Given the description of an element on the screen output the (x, y) to click on. 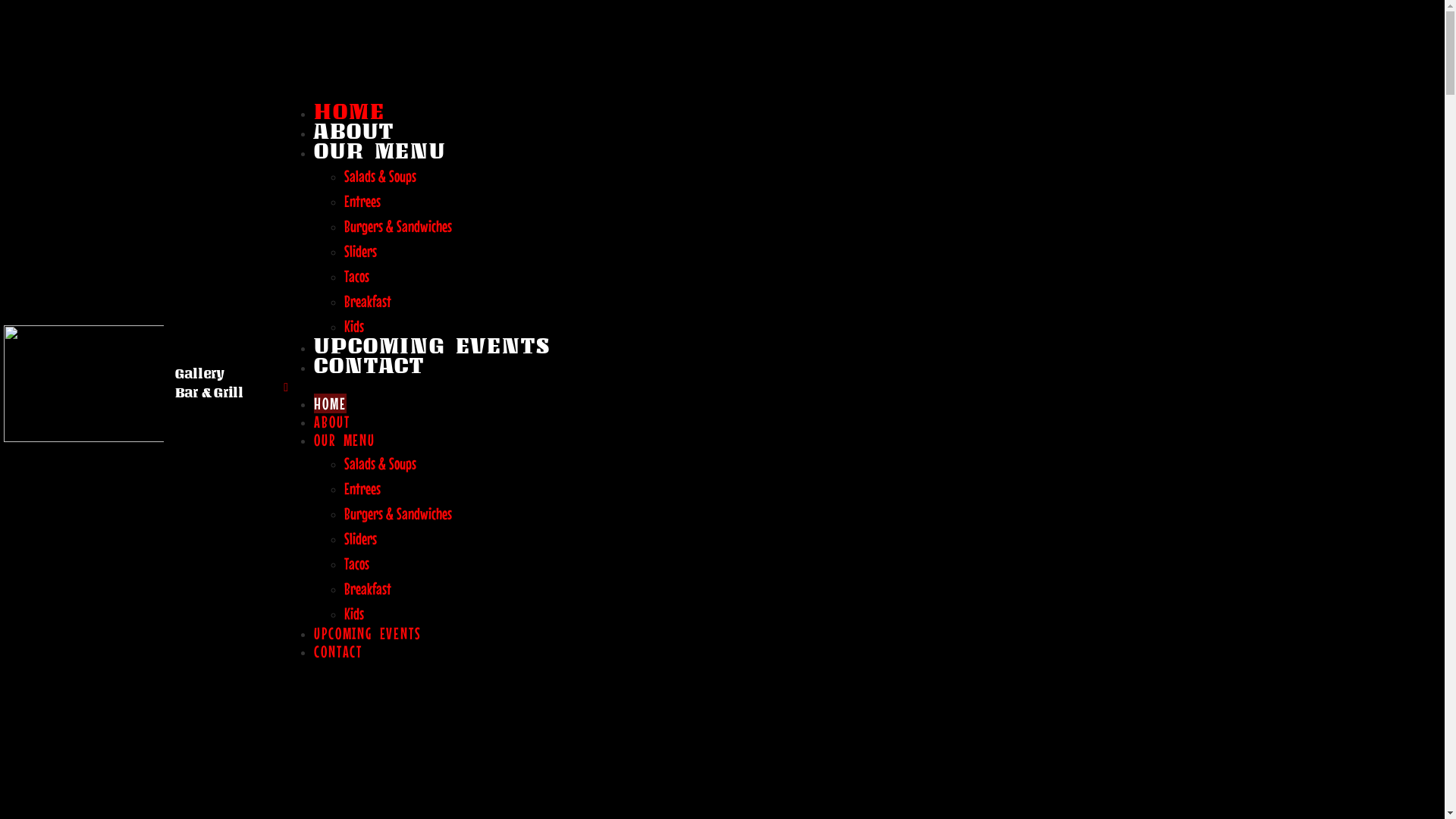
HOME Element type: text (329, 403)
OUR MENU Element type: text (343, 439)
Burgers & Sandwiches Element type: text (397, 513)
CONTACT Element type: text (368, 364)
Burgers & Sandwiches Element type: text (397, 225)
Entrees Element type: text (362, 200)
Breakfast Element type: text (367, 588)
Tacos Element type: text (356, 563)
Kids Element type: text (354, 613)
Salads & Soups Element type: text (380, 463)
CONTACT Element type: text (337, 651)
Sliders Element type: text (360, 538)
Salads & Soups Element type: text (380, 175)
Kids Element type: text (354, 325)
UPCOMING EVENTS Element type: text (366, 633)
UPCOMING EVENTS Element type: text (431, 344)
ABOUT Element type: text (353, 130)
Entrees Element type: text (362, 488)
ABOUT Element type: text (331, 421)
Tacos Element type: text (356, 275)
OUR MENU Element type: text (379, 150)
Sliders Element type: text (360, 250)
HOME Element type: text (348, 110)
Breakfast Element type: text (367, 300)
